Given the description of an element on the screen output the (x, y) to click on. 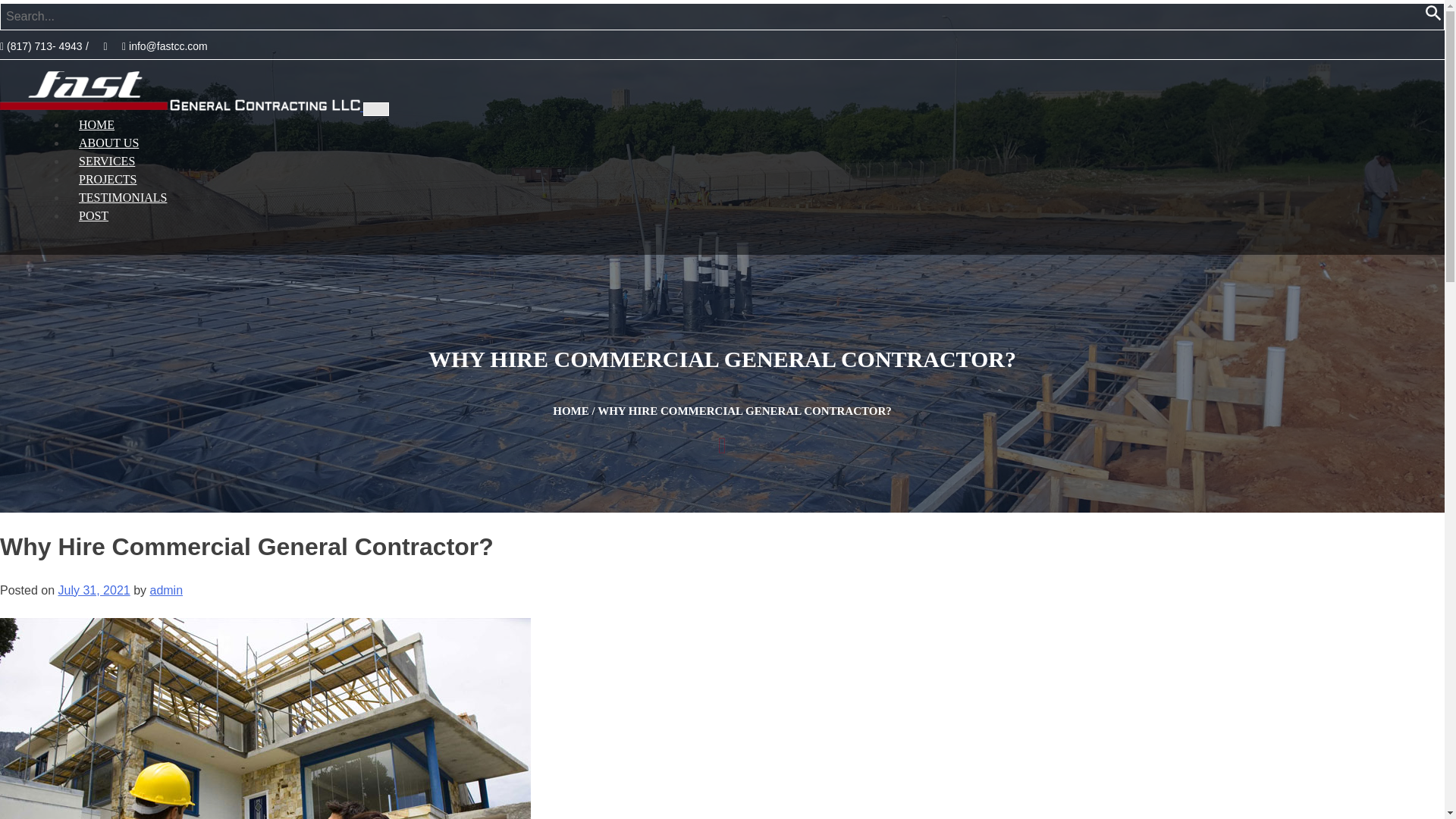
HOME (96, 124)
ABOUT US (108, 142)
about us (108, 142)
post (93, 215)
TESTIMONIALS (122, 197)
July 31, 2021 (93, 590)
services (106, 161)
Testimonials (122, 197)
projects (107, 179)
Search for: (650, 15)
HOME (571, 410)
WHY HIRE COMMERCIAL GENERAL CONTRACTOR? (743, 410)
home (96, 124)
POST (93, 215)
admin (166, 590)
